Given the description of an element on the screen output the (x, y) to click on. 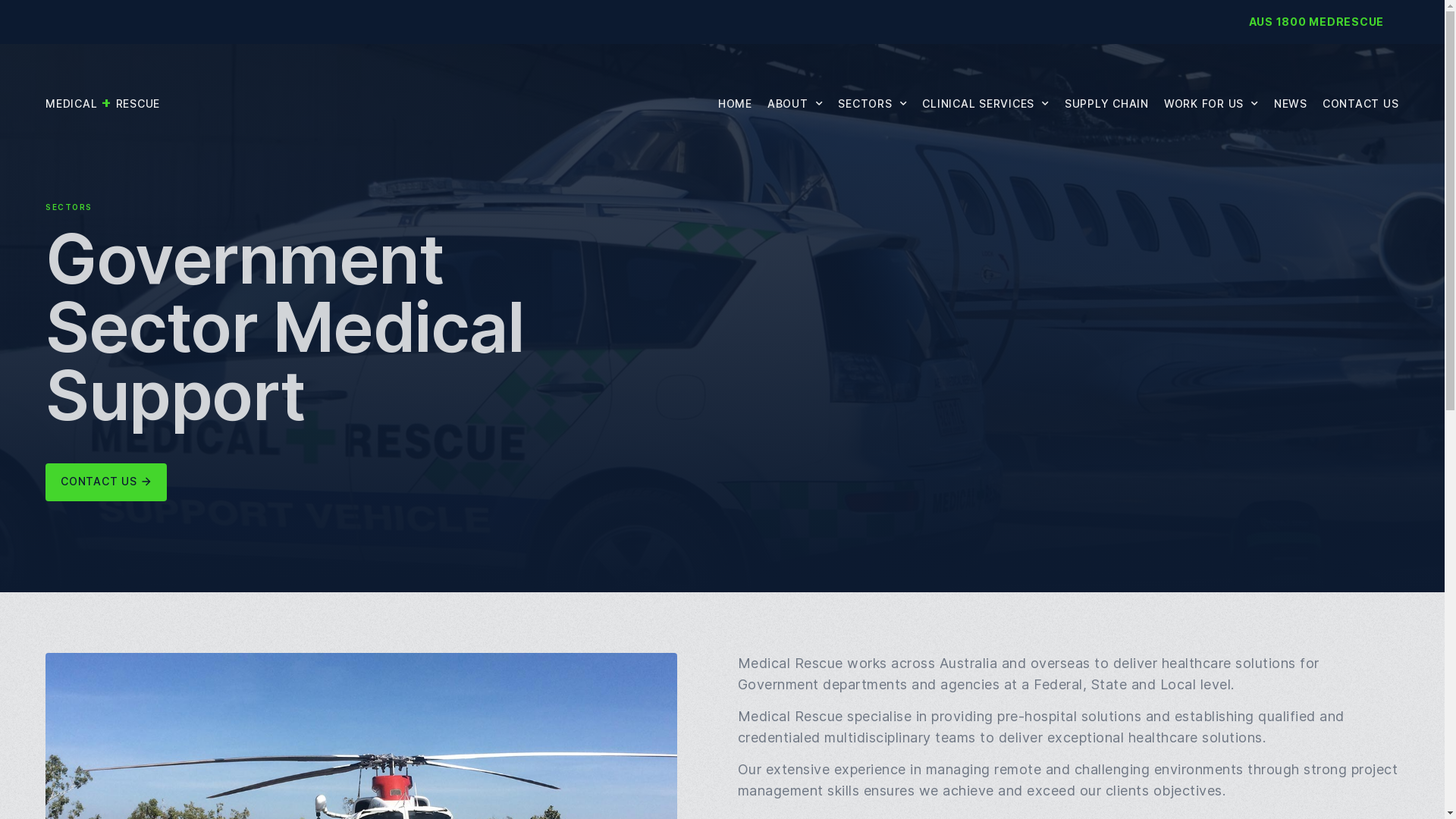
MEDICAL + RESCUE Element type: text (102, 103)
CLINICAL SERVICES Element type: text (985, 103)
CONTACT US Element type: text (105, 482)
WORK FOR US Element type: text (1211, 103)
NEWS Element type: text (1290, 103)
CONTACT US Element type: text (1360, 103)
SUPPLY CHAIN Element type: text (1106, 103)
AUS 1800 MEDRESCUE Element type: text (1315, 21)
SECTORS Element type: text (871, 103)
HOME Element type: text (735, 103)
ABOUT Element type: text (795, 103)
